Given the description of an element on the screen output the (x, y) to click on. 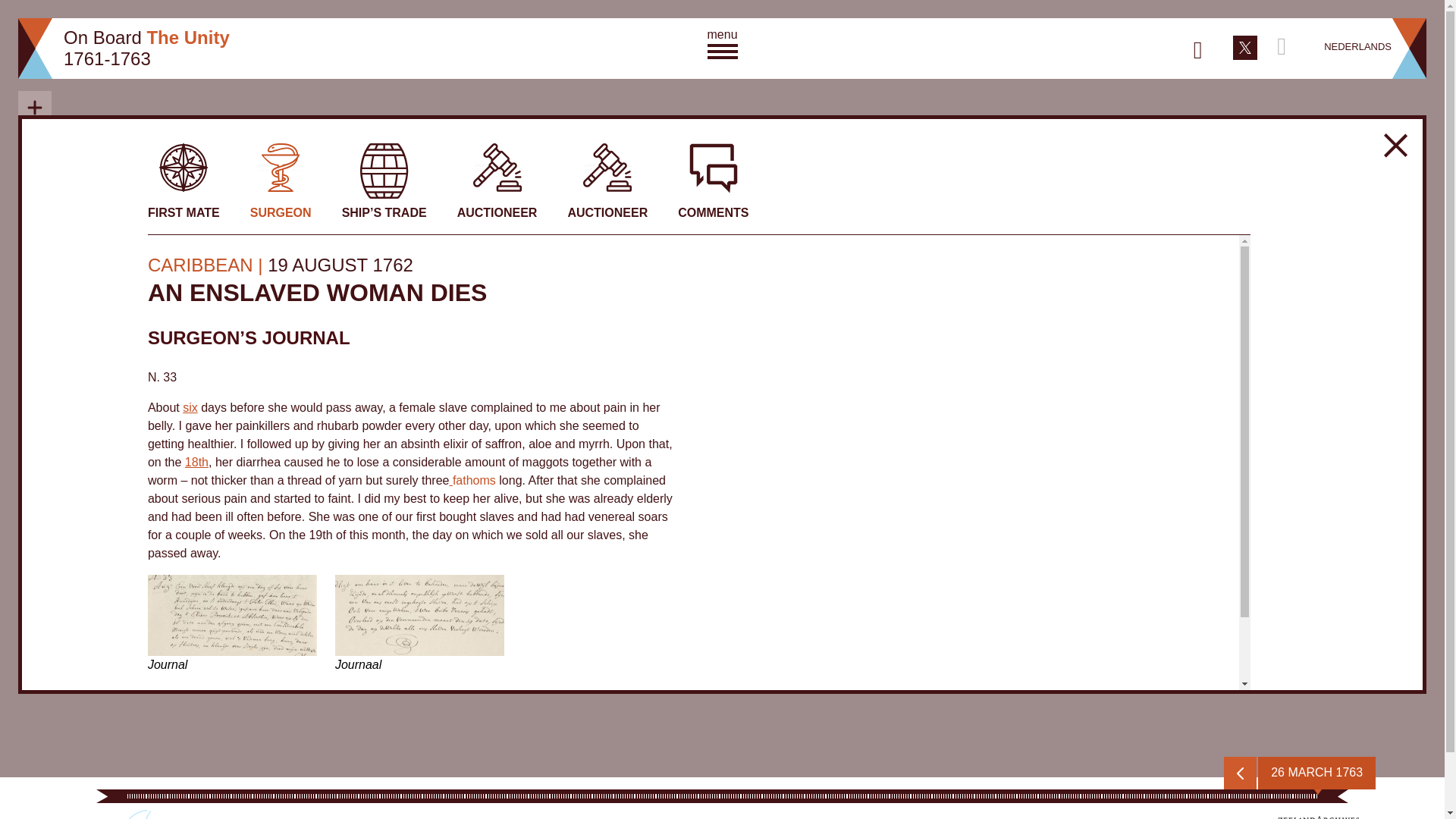
Zoom in (33, 107)
X (1245, 45)
Layers (33, 186)
menu (721, 41)
33 messages (262, 747)
13 august 1762 (190, 407)
Back to the map (1395, 145)
18 August 1762 (196, 461)
NEDERLANDS (1357, 46)
